Given the description of an element on the screen output the (x, y) to click on. 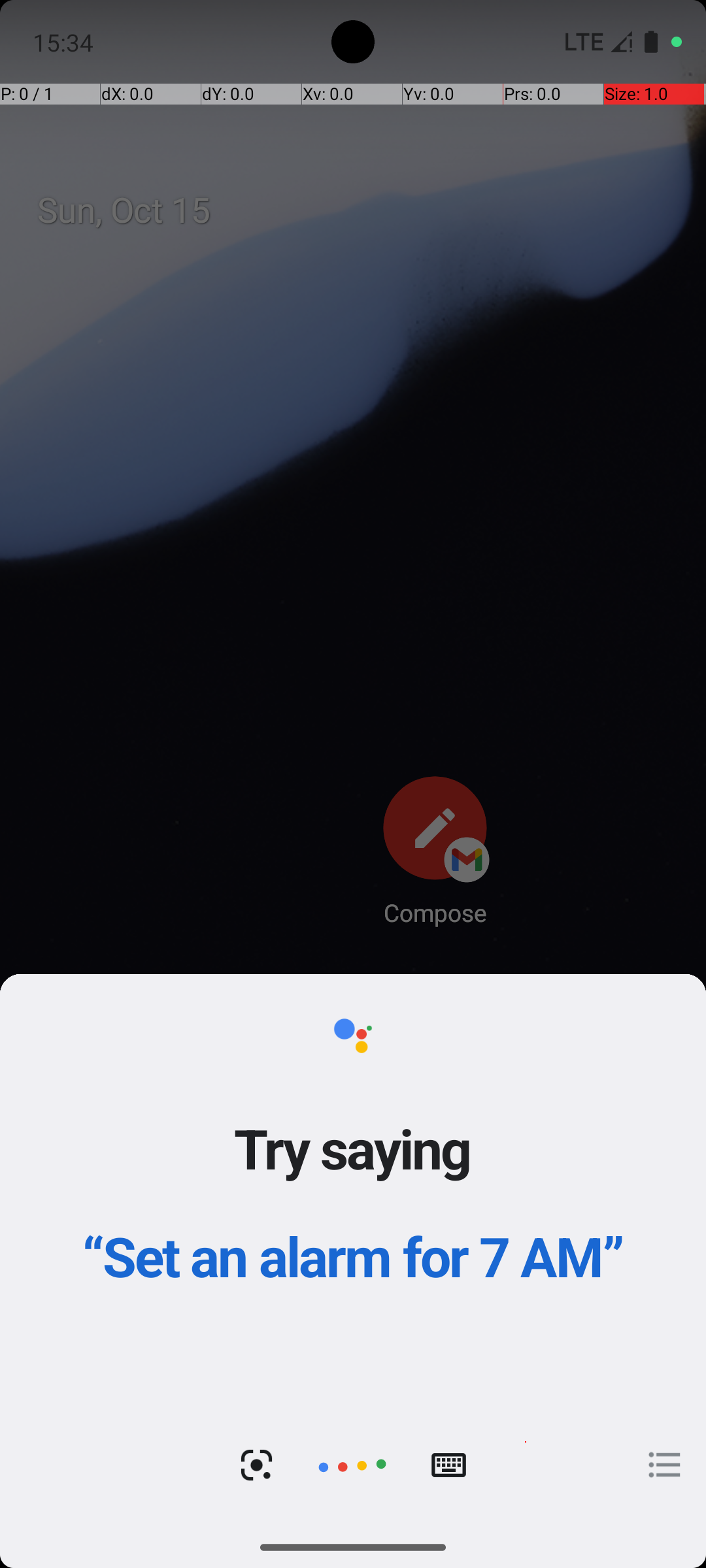
Tap to dismiss Assistant Element type: android.view.ViewGroup (353, 804)
Google Assistant widget. Element type: android.support.v7.widget.RecyclerView (353, 1250)
Google Assistant greeting container. Element type: android.widget.LinearLayout (353, 1188)
Camera search Element type: android.widget.ImageView (256, 1465)
Tap to cancel Element type: android.view.View (351, 1465)
Type mode Element type: android.widget.ImageView (448, 1465)
Google Assistant greeting. Element type: android.widget.FrameLayout (353, 1250)
Open explore page Element type: android.widget.ImageView (664, 1464)
Try saying Element type: android.widget.TextView (352, 1147)
“Set an alarm for 7 AM” Element type: android.widget.TextView (352, 1255)
